Given the description of an element on the screen output the (x, y) to click on. 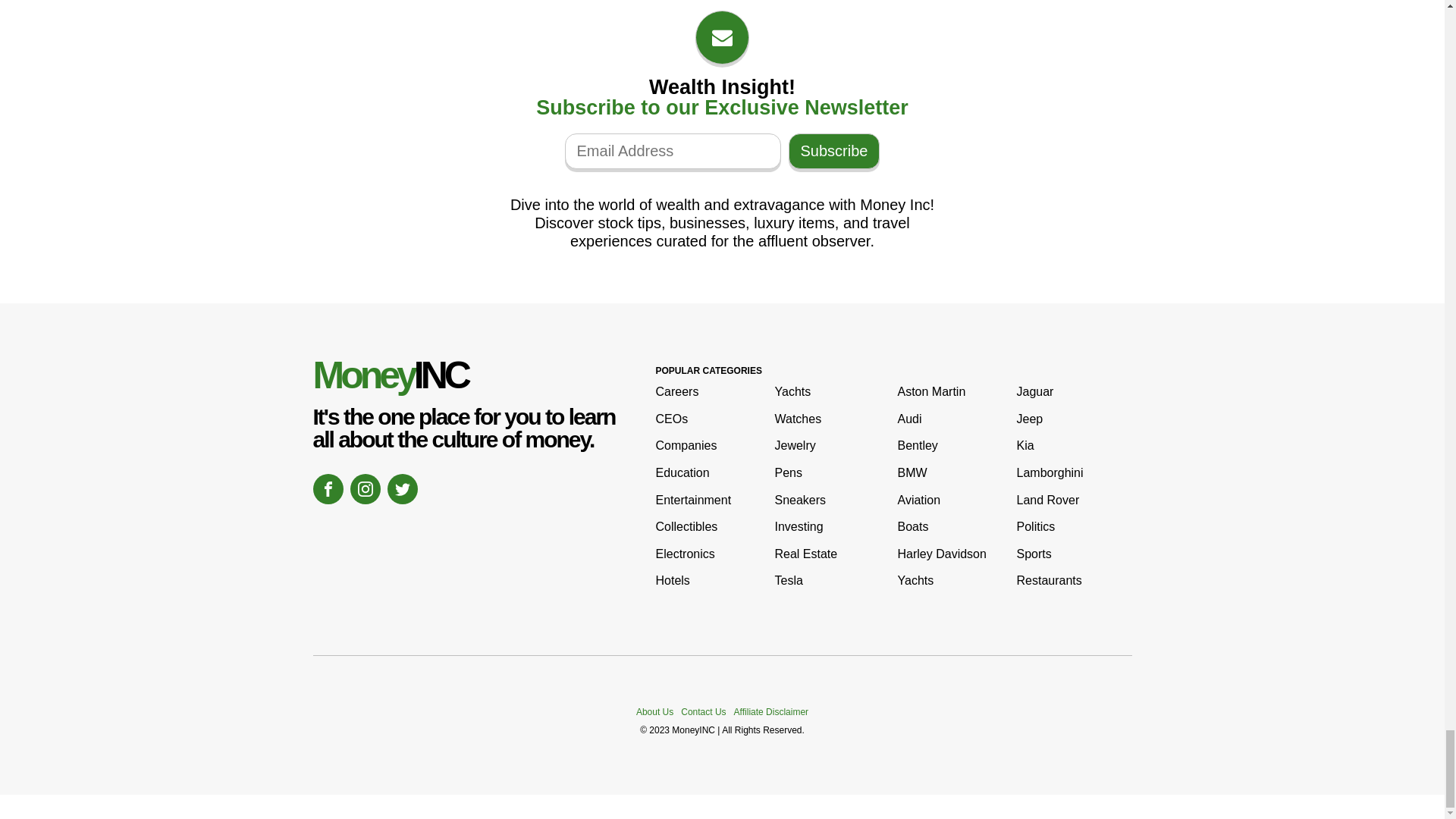
Subscribe (834, 150)
